Given the description of an element on the screen output the (x, y) to click on. 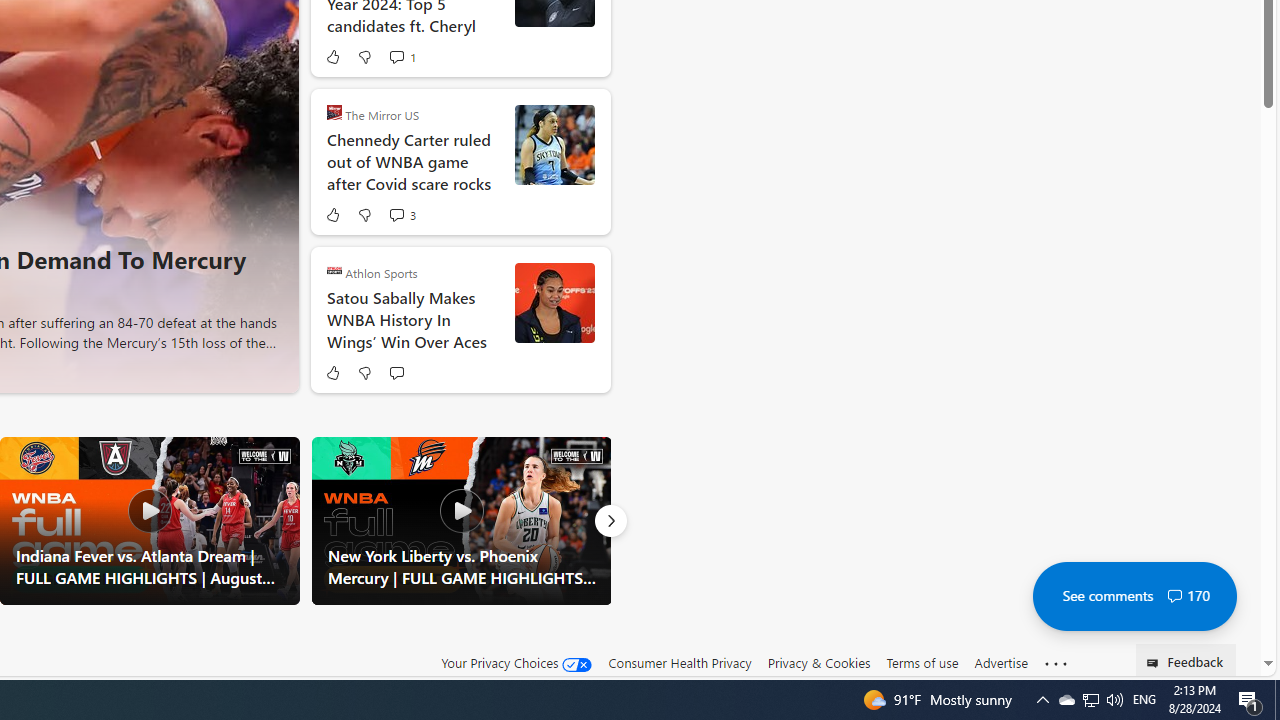
The Mirror US (333, 112)
next (271, 161)
Privacy & Cookies (818, 663)
Terms of use (921, 663)
See comments 170 (1133, 596)
Consumer Health Privacy (680, 663)
Class: oneFooter_seeMore-DS-EntryPoint1-1 (1055, 663)
Advertise (1000, 663)
Terms of use (921, 662)
Class: cwt-icon-vector (1174, 596)
usatsi_21497924 (554, 302)
